Given the description of an element on the screen output the (x, y) to click on. 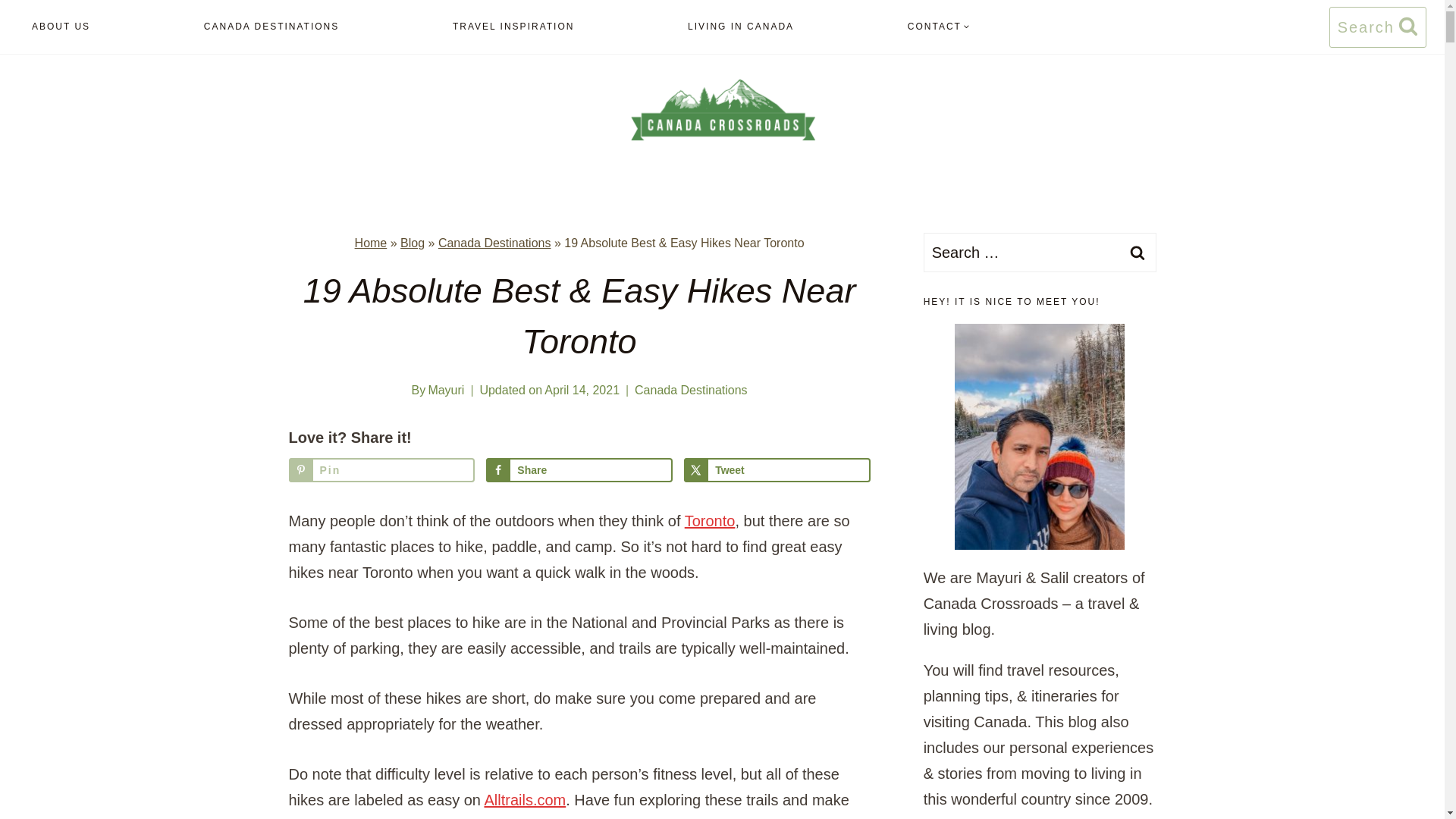
Tweet (776, 469)
Canada Destinations (691, 390)
Canada Destinations (494, 242)
LIVING IN CANADA (741, 27)
Search (1137, 251)
ABOUT US (60, 27)
Home (371, 242)
Search (1137, 251)
Toronto (709, 520)
Share on X (776, 469)
